Given the description of an element on the screen output the (x, y) to click on. 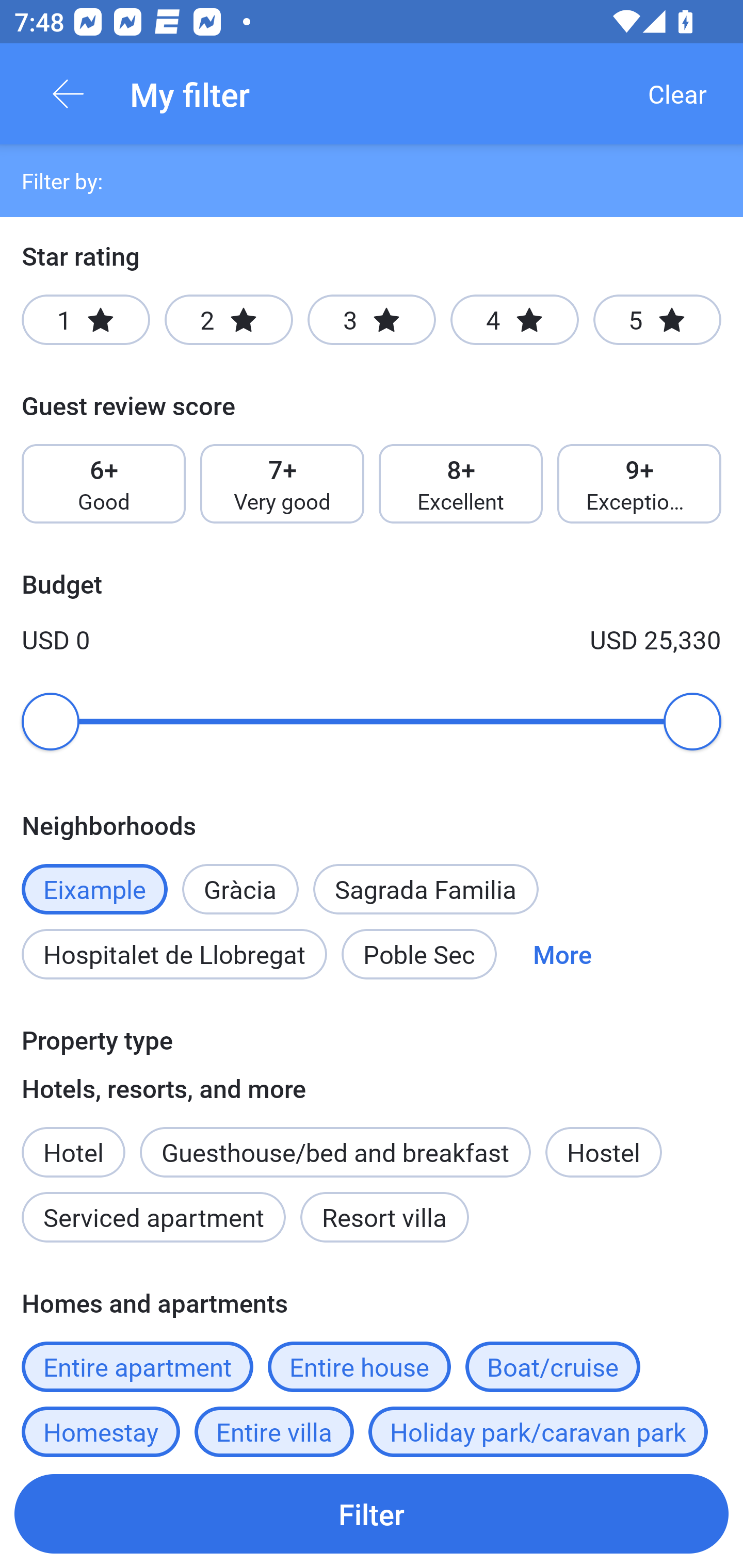
Clear (676, 93)
1 (85, 319)
2 (228, 319)
3 (371, 319)
4 (514, 319)
5 (657, 319)
6+ Good (103, 483)
7+ Very good (281, 483)
8+ Excellent (460, 483)
9+ Exceptional (639, 483)
Gràcia (240, 878)
Sagrada Familia (425, 888)
Hospitalet de Llobregat (173, 954)
Poble Sec (419, 954)
More (562, 954)
Hotel (73, 1141)
Guesthouse/bed and breakfast (335, 1151)
Hostel (603, 1151)
Serviced apartment (153, 1217)
Resort villa (384, 1217)
Filter (371, 1513)
